Given the description of an element on the screen output the (x, y) to click on. 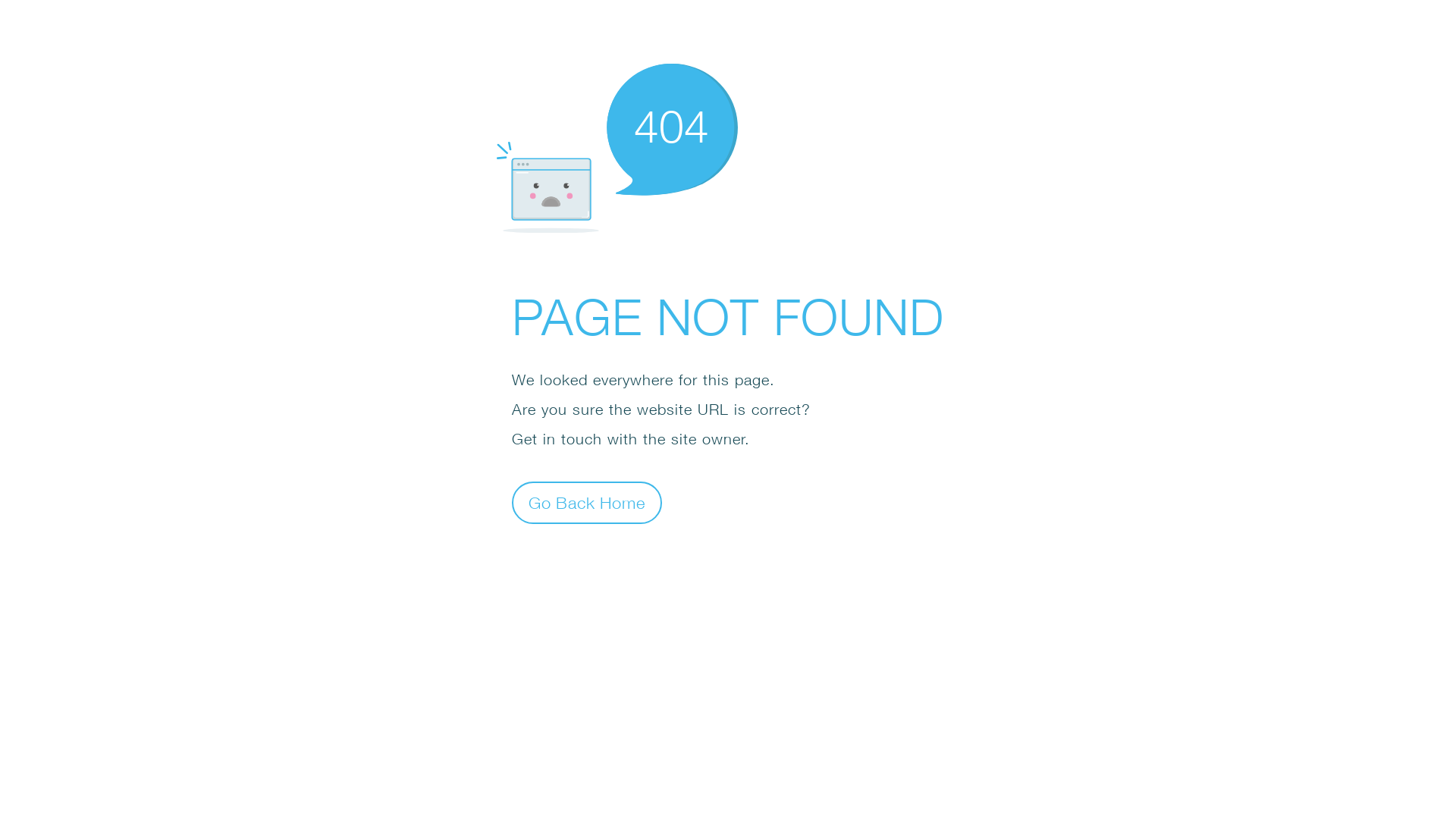
Go Back Home Element type: text (586, 502)
